Given the description of an element on the screen output the (x, y) to click on. 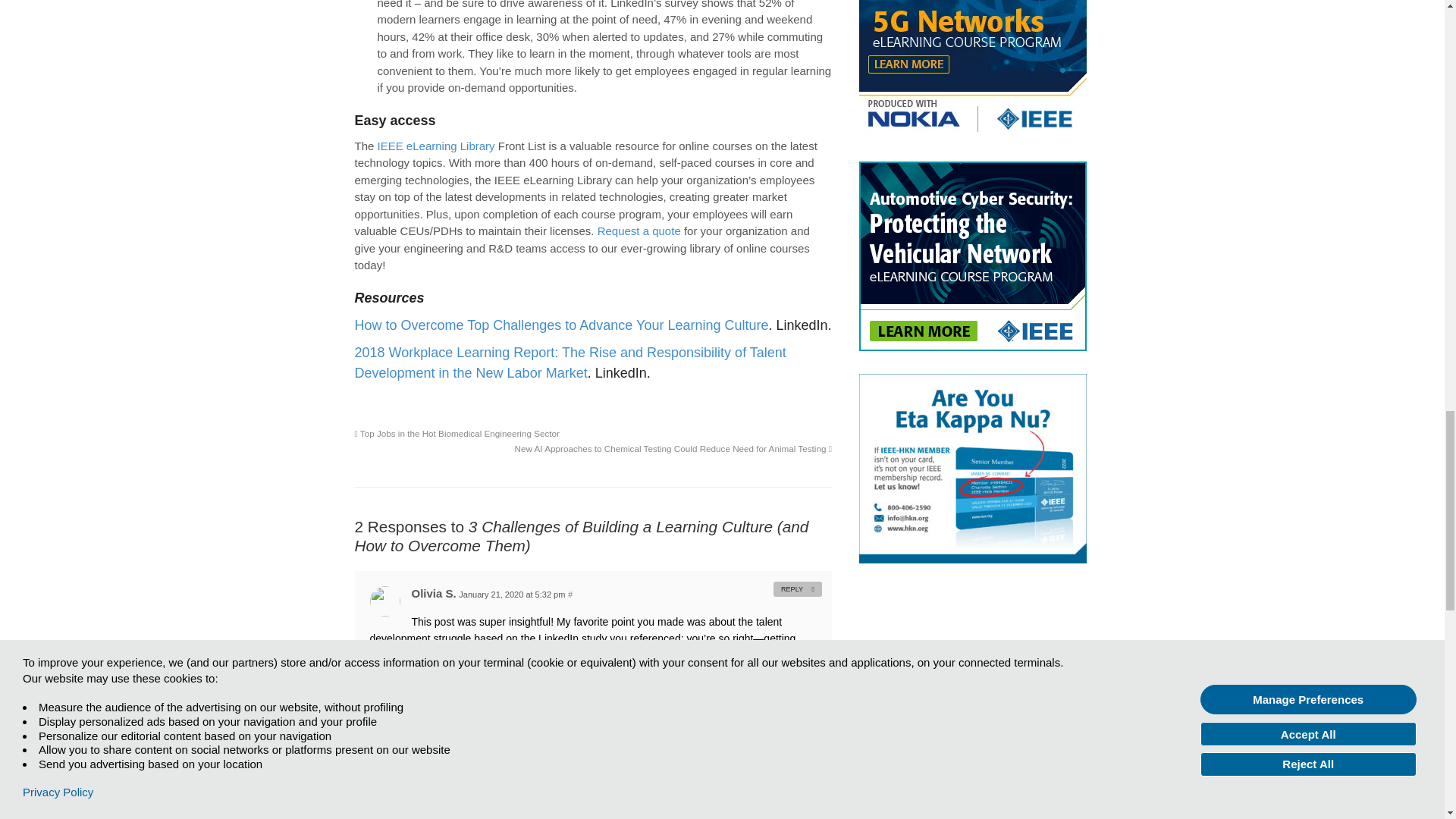
Request a quote (638, 230)
IEEE eLearning Library (436, 145)
